Given the description of an element on the screen output the (x, y) to click on. 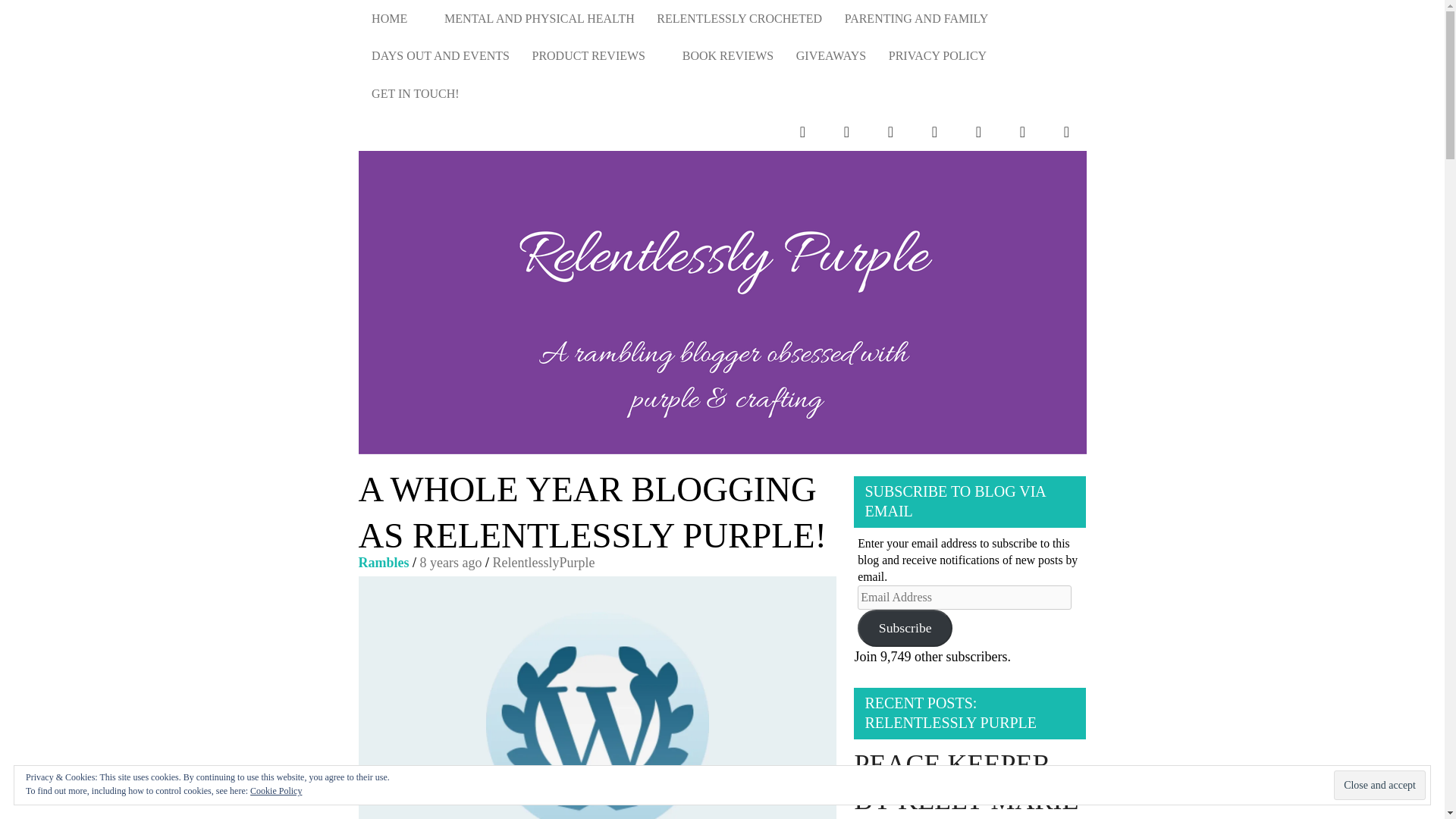
Rambles (383, 562)
PARENTING AND FAMILY (915, 18)
DAYS OUT AND EVENTS (439, 56)
MENTAL AND PHYSICAL HEALTH (538, 18)
GET IN TOUCH! (414, 94)
PRIVACY POLICY (937, 56)
PRODUCT REVIEWS (595, 56)
BOOK REVIEWS (727, 56)
GIVEAWAYS (831, 56)
RELENTLESSLY PURPLE (1031, 337)
HOME (395, 18)
Close and accept (1379, 785)
RELENTLESSLY CROCHETED (739, 18)
